Given the description of an element on the screen output the (x, y) to click on. 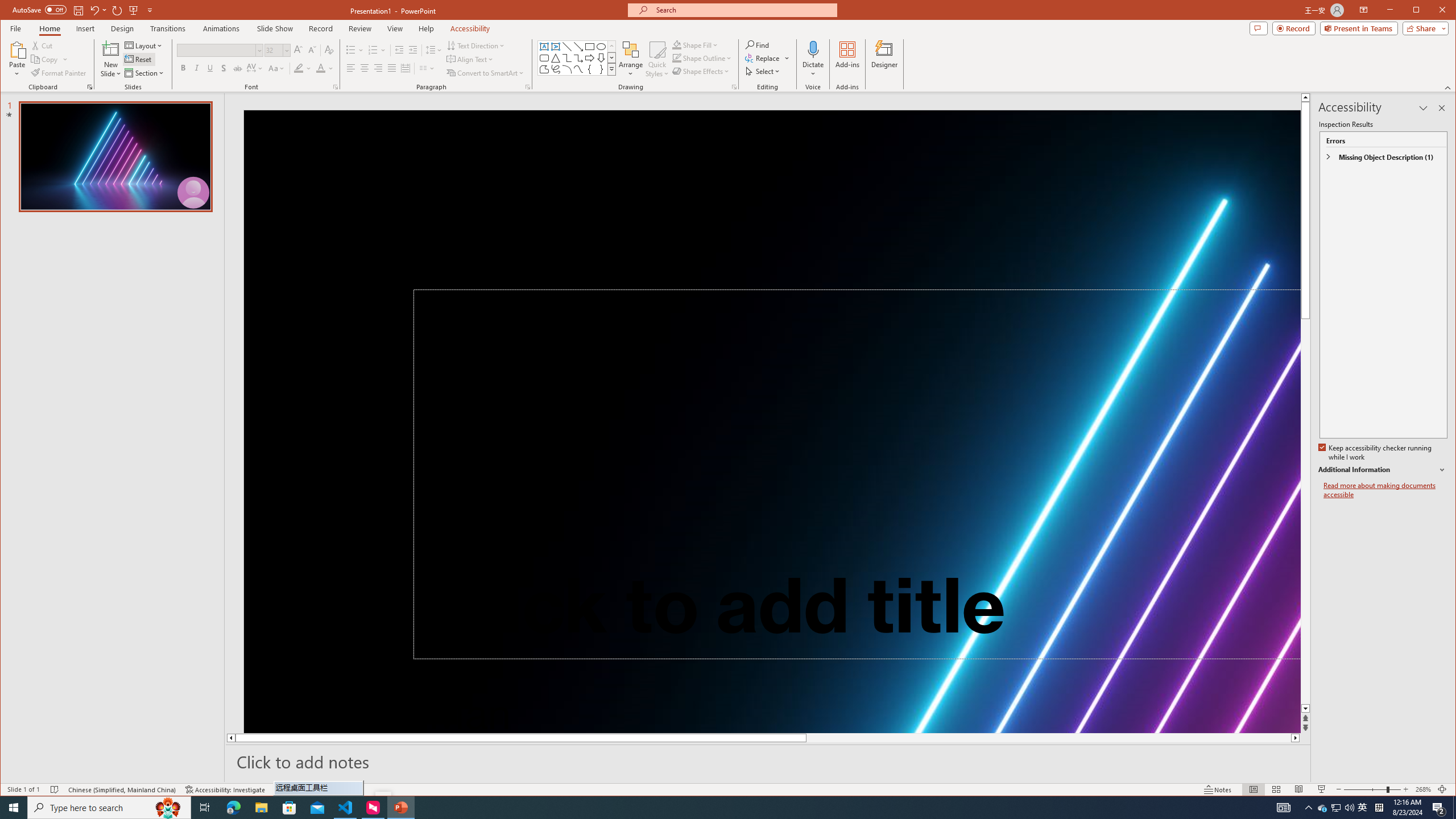
Right Brace (601, 69)
Font... (335, 86)
Arc (567, 69)
Arrow: Right (589, 57)
Arrange (631, 59)
Start (13, 807)
Text Highlight Color (1322, 807)
Subtitle TextBox (302, 68)
Class: MsoCommandBar (816, 705)
Additional Information (728, 789)
